Given the description of an element on the screen output the (x, y) to click on. 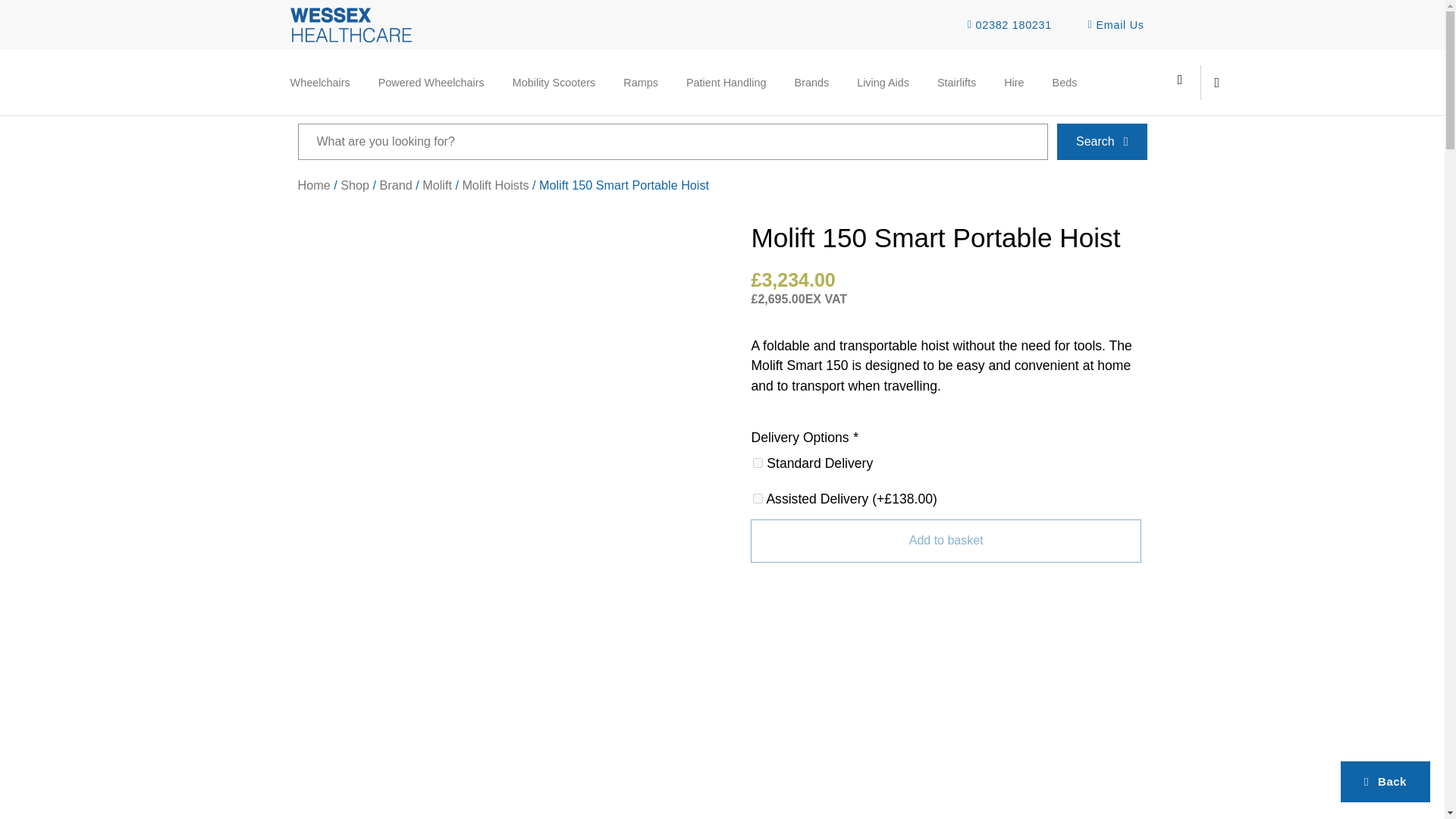
Email Us (1111, 25)
Patient Handling (726, 82)
standard-delivery (757, 462)
Wheelchairs (319, 82)
Mobility Scooters (553, 82)
02382 180231 (1004, 25)
Powered Wheelchairs (431, 82)
Search (671, 141)
assisted-delivery (757, 498)
